Given the description of an element on the screen output the (x, y) to click on. 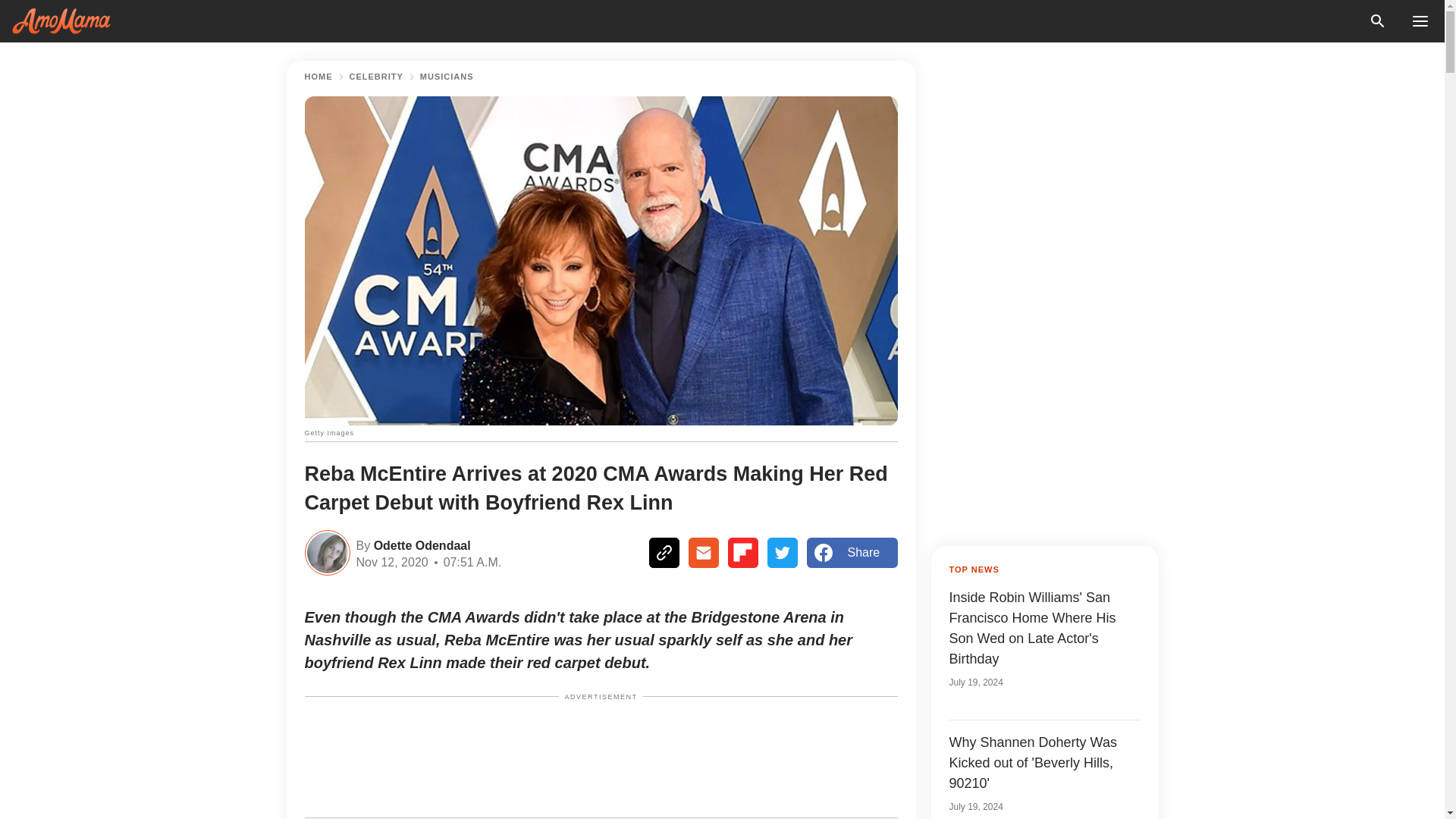
CELEBRITY (376, 76)
Odette Odendaal (419, 544)
MUSICIANS (447, 76)
HOME (318, 76)
